Given the description of an element on the screen output the (x, y) to click on. 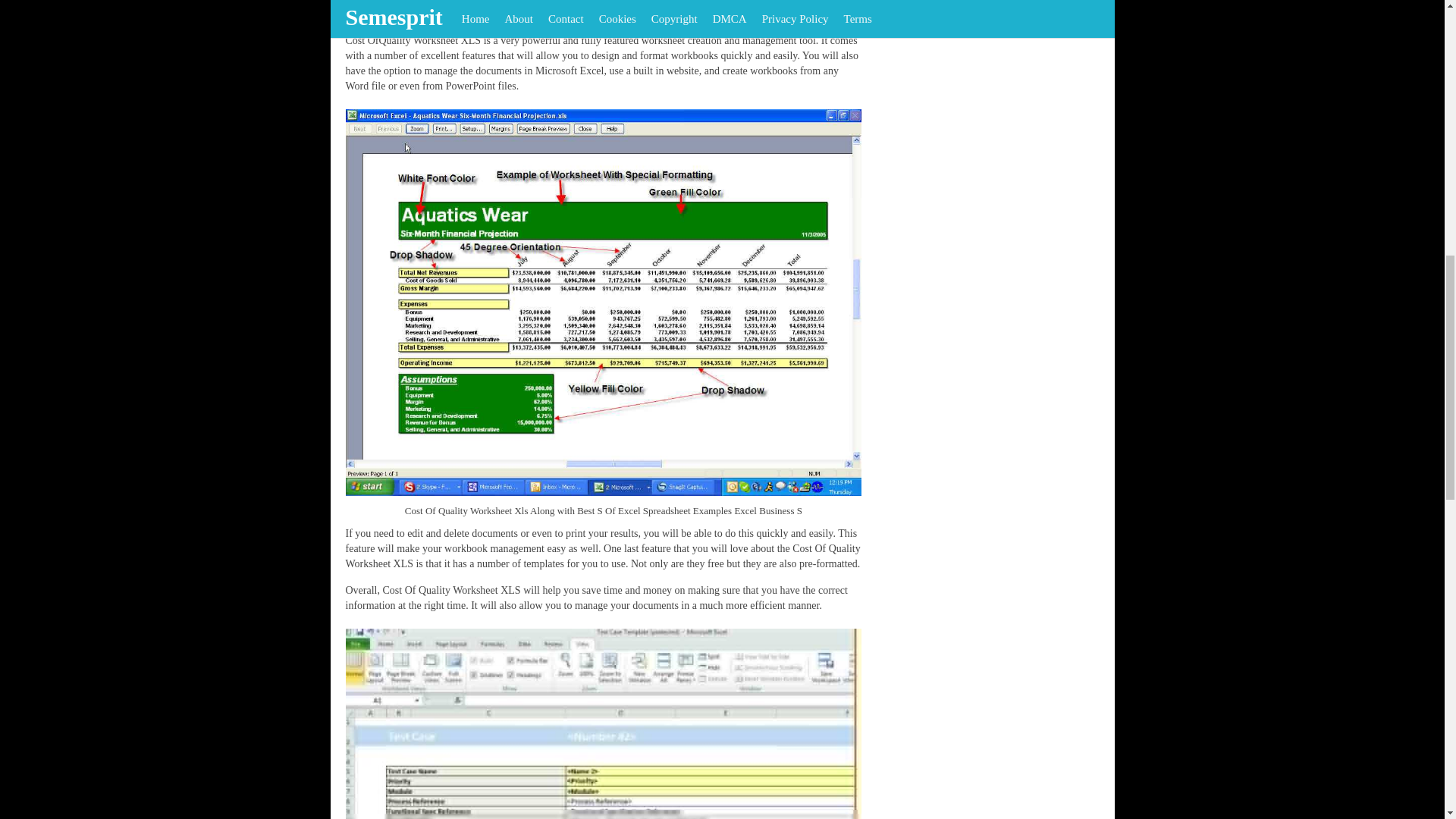
Cost Of Quality Worksheet Xls 3 (603, 723)
